Given the description of an element on the screen output the (x, y) to click on. 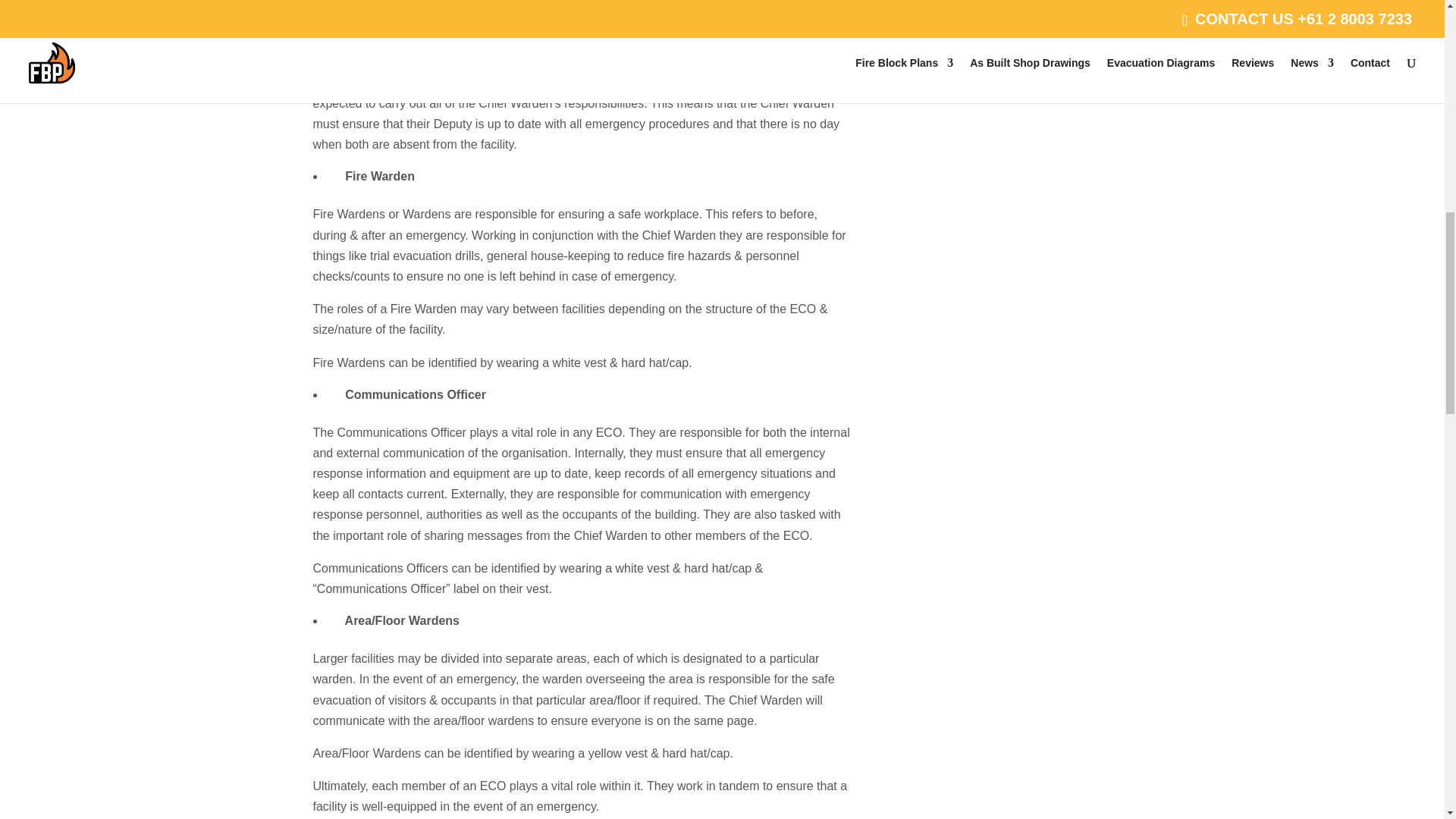
SUBMIT (1070, 53)
